Given the description of an element on the screen output the (x, y) to click on. 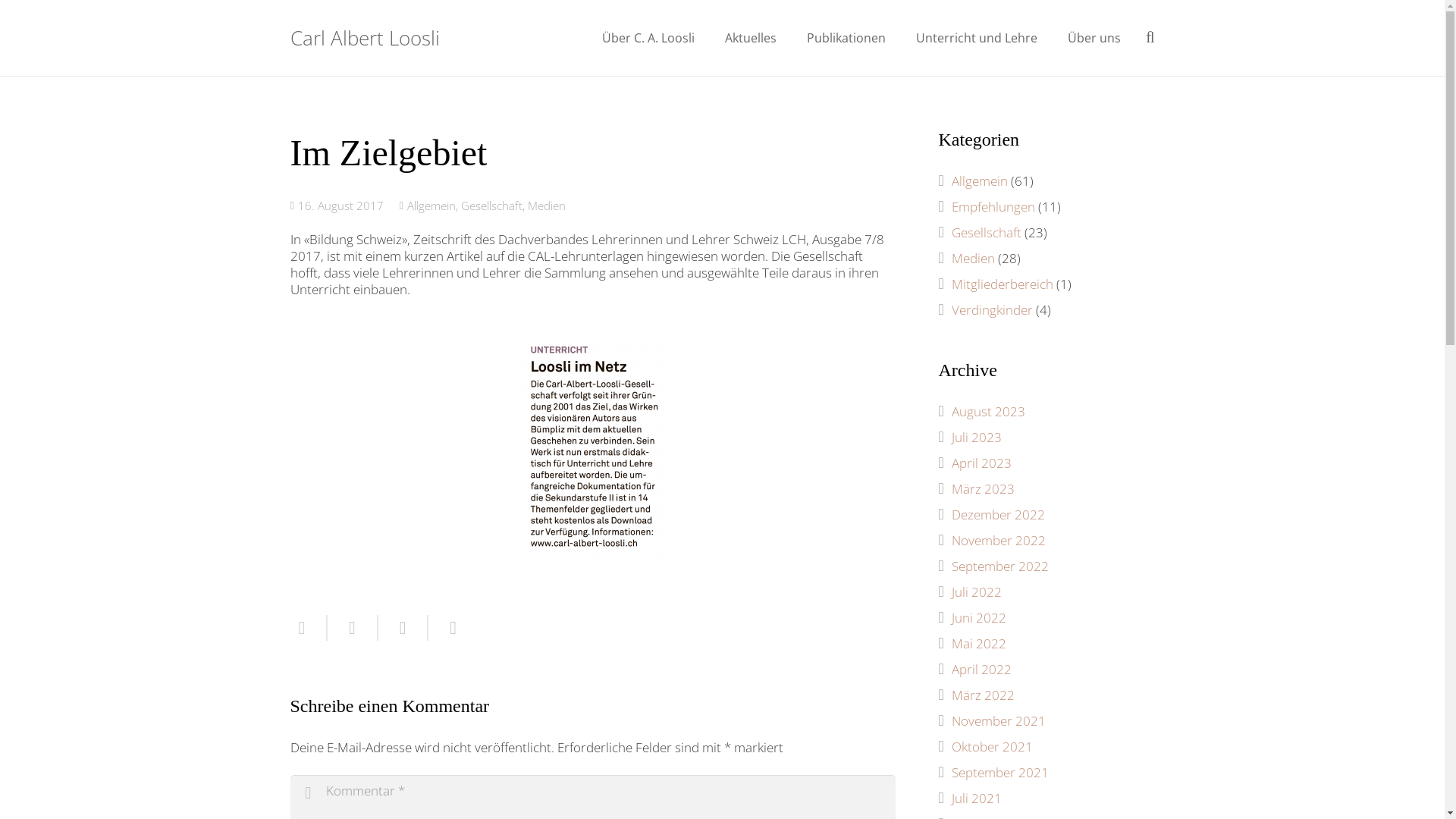
Juli 2022 Element type: text (975, 591)
Mitgliederbereich Element type: text (1001, 283)
Dezember 2022 Element type: text (997, 514)
Mai 2022 Element type: text (977, 643)
November 2021 Element type: text (997, 720)
Gesellschaft Element type: text (491, 205)
Teile dies Element type: hover (446, 627)
November 2022 Element type: text (997, 540)
Tweete das Element type: hover (403, 627)
September 2022 Element type: text (999, 565)
April 2022 Element type: text (980, 668)
Gesellschaft Element type: text (985, 232)
Unterricht und Lehre Element type: text (976, 37)
Carl Albert Loosli Element type: text (364, 37)
April 2023 Element type: text (980, 462)
Email senden Element type: hover (308, 627)
Verdingkinder Element type: text (991, 309)
Oktober 2021 Element type: text (991, 746)
August 2023 Element type: text (987, 411)
September 2021 Element type: text (999, 772)
Empfehlungen Element type: text (992, 206)
Teile dies Element type: hover (352, 627)
Juni 2022 Element type: text (977, 617)
Publikationen Element type: text (845, 37)
Aktuelles Element type: text (750, 37)
Juli 2023 Element type: text (975, 436)
Juli 2021 Element type: text (975, 797)
Allgemein Element type: text (431, 205)
Medien Element type: text (972, 257)
Allgemein Element type: text (978, 180)
Medien Element type: text (546, 205)
